Given the description of an element on the screen output the (x, y) to click on. 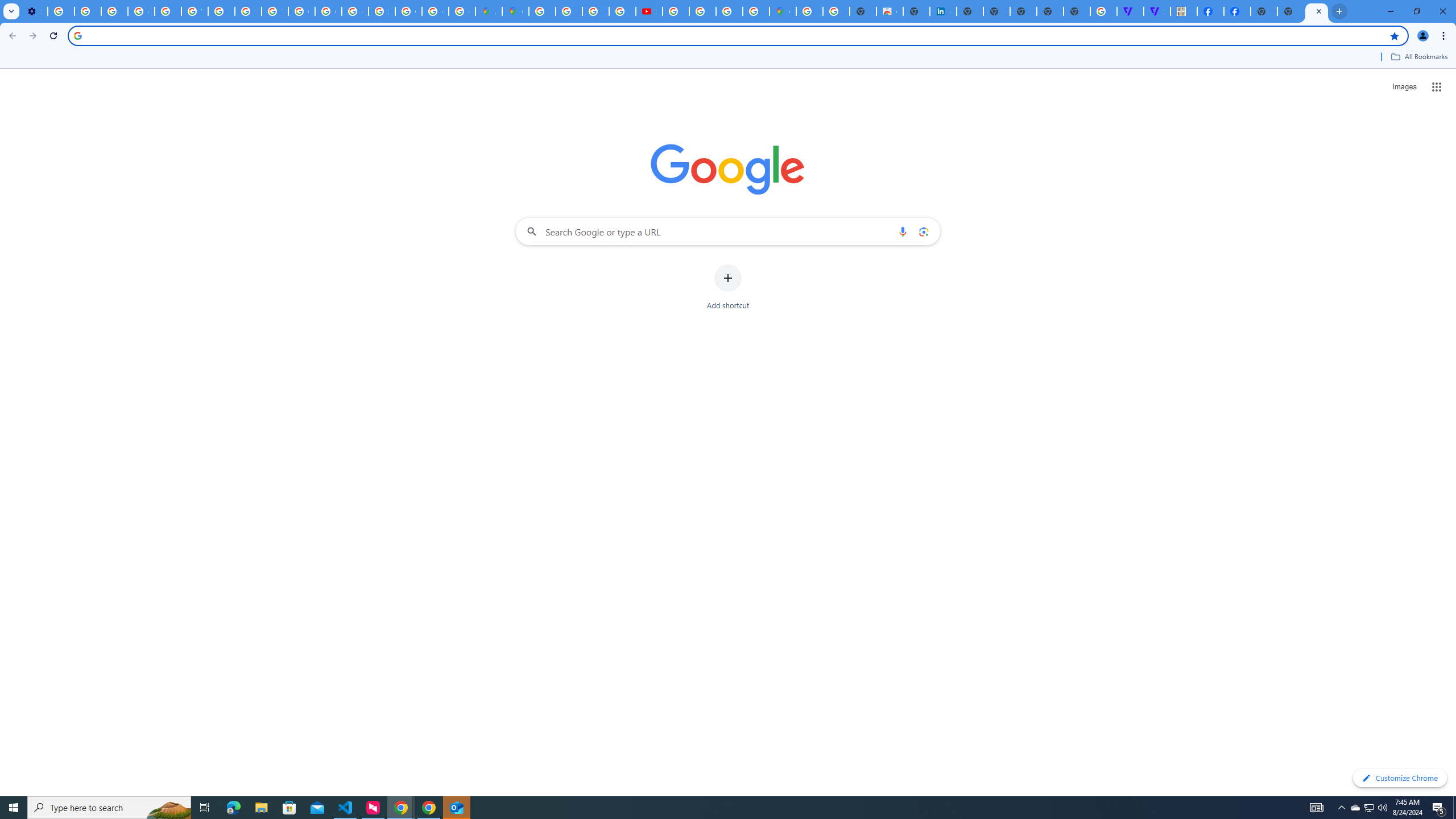
Privacy Help Center - Policies Help (167, 11)
Privacy Help Center - Policies Help (248, 11)
Blogger Policies and Guidelines - Transparency Center (542, 11)
Bookmarks (728, 58)
Settings - Customize profile (34, 11)
Sign in - Google Accounts (382, 11)
